Given the description of an element on the screen output the (x, y) to click on. 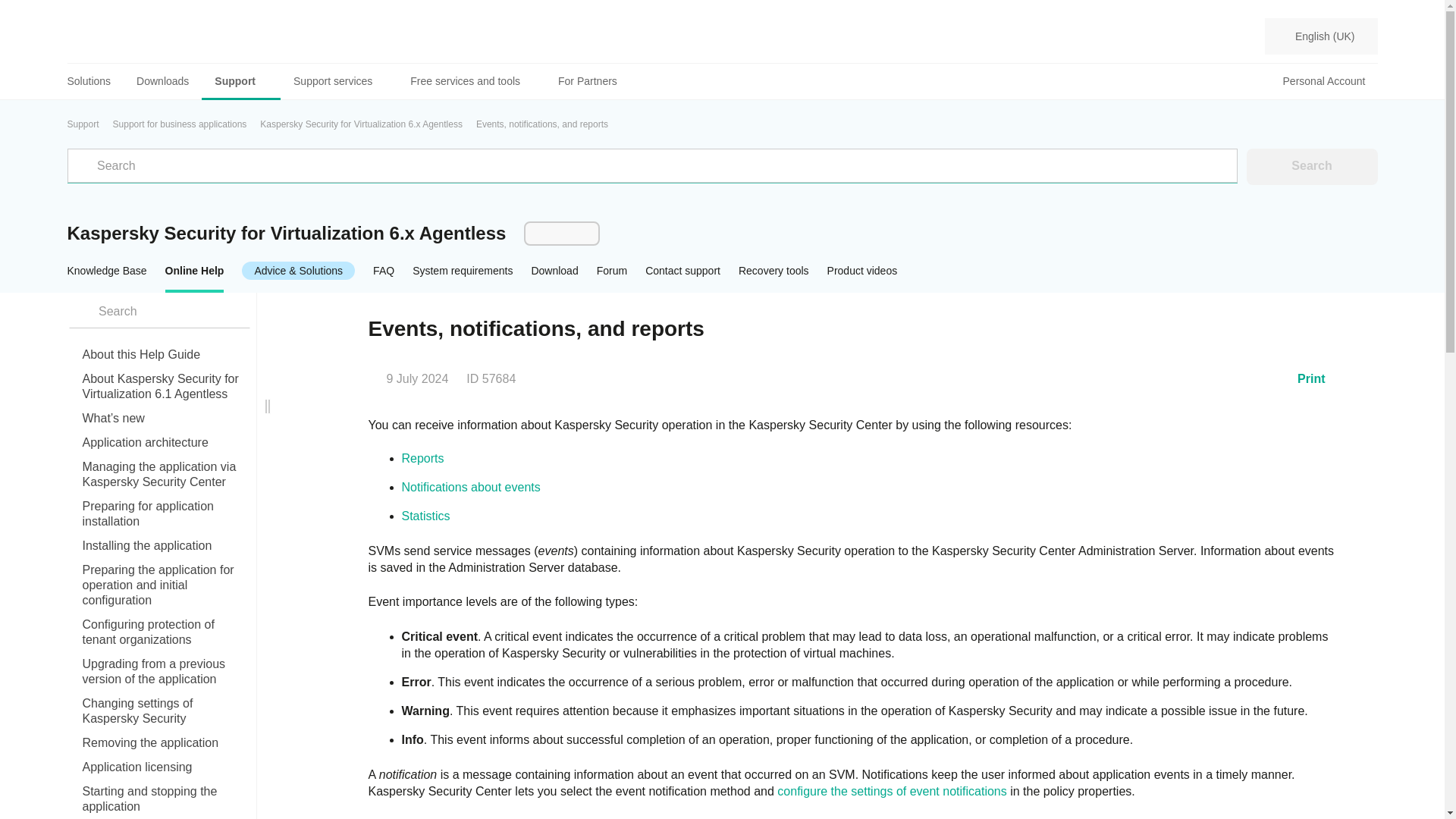
Solutions (94, 81)
Support (241, 81)
Downloads (162, 81)
Free services and tools (470, 81)
Support services (339, 81)
Kaspersky (122, 37)
For Partners (587, 81)
product-search (158, 311)
